Given the description of an element on the screen output the (x, y) to click on. 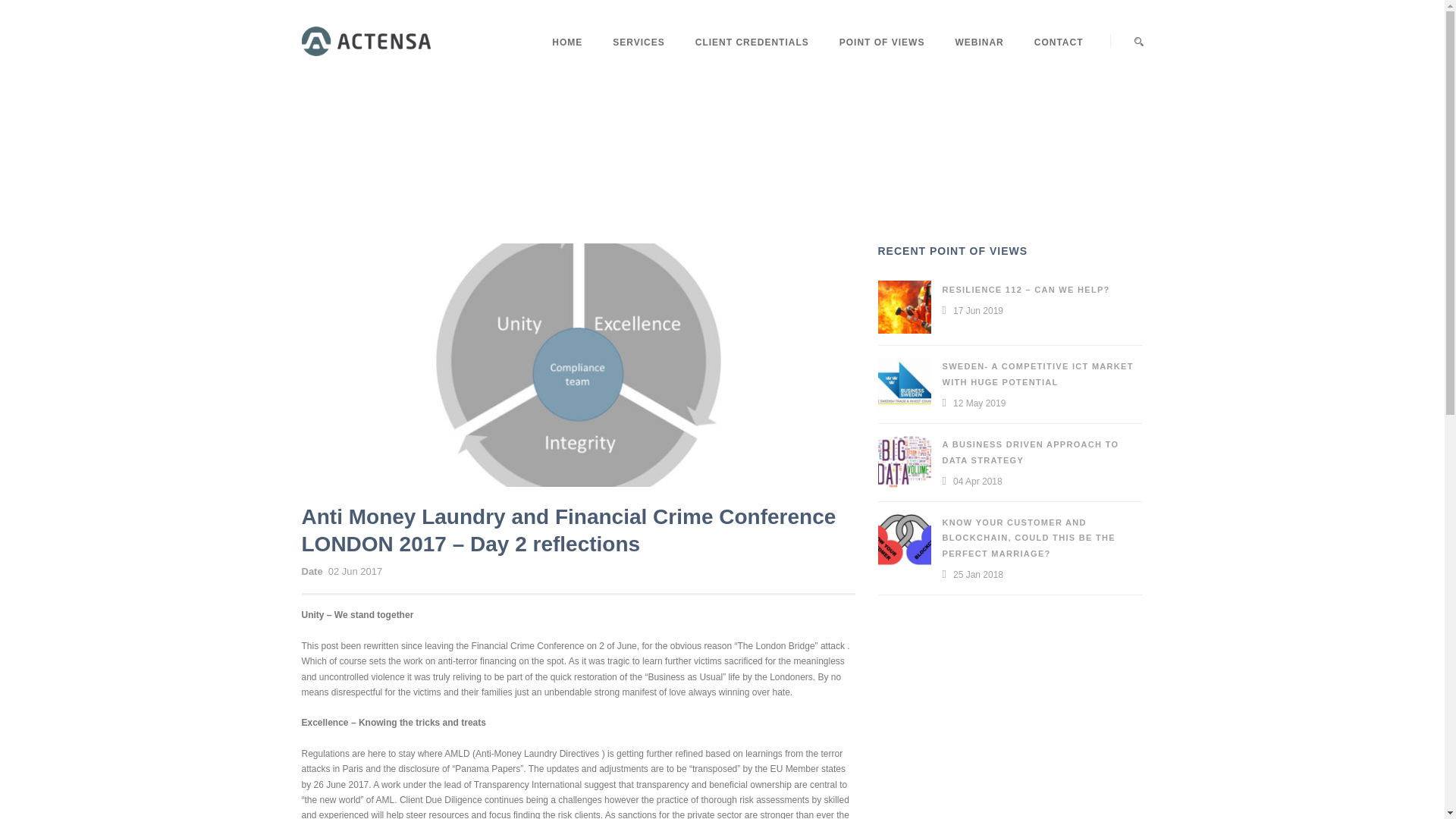
SERVICES (637, 60)
POINT OF VIEWS (882, 60)
CONTACT (1051, 60)
CLIENT CREDENTIALS (751, 60)
HOME (573, 60)
WEBINAR (978, 60)
